Given the description of an element on the screen output the (x, y) to click on. 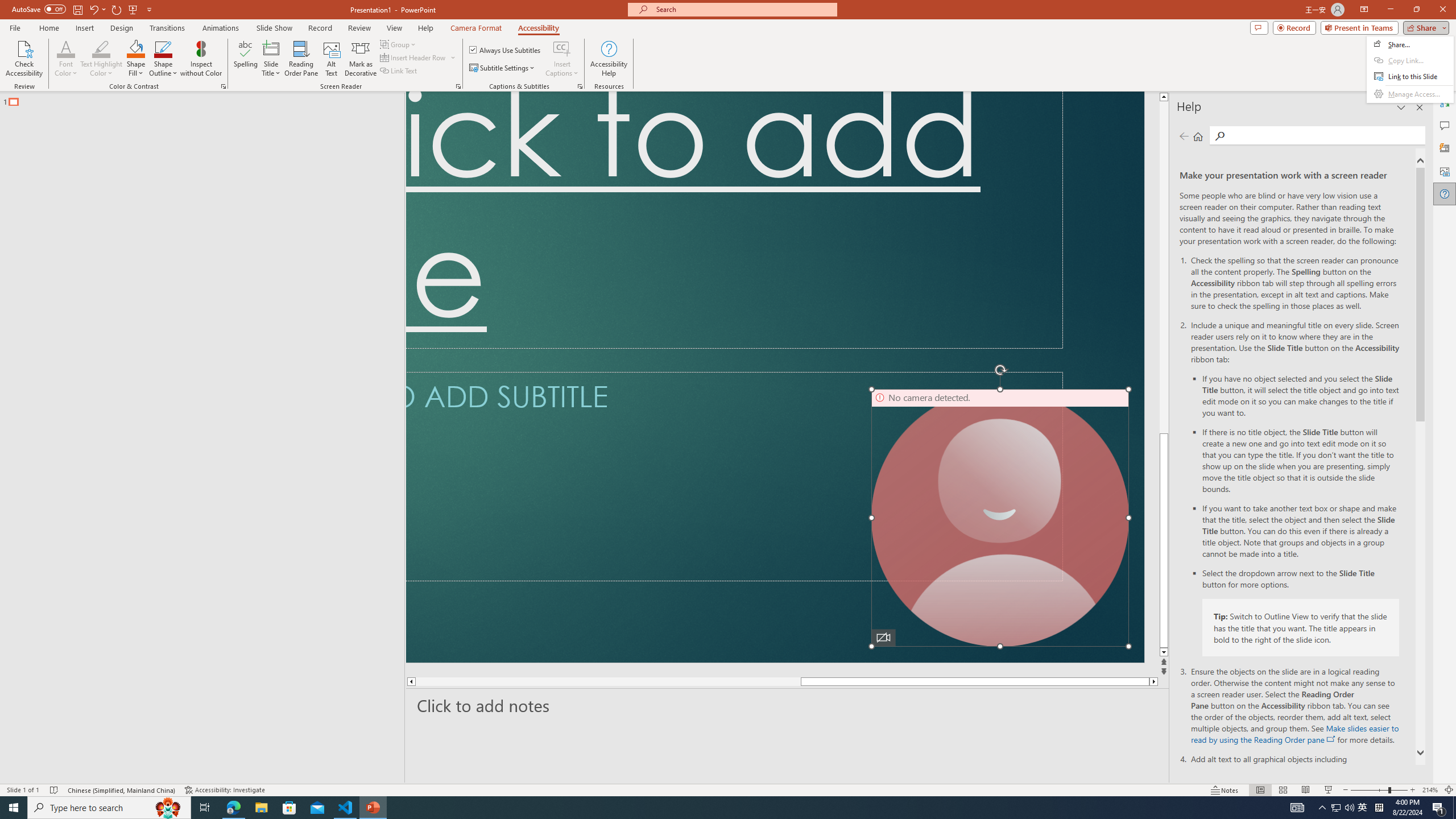
Captions & Subtitles (580, 85)
Camera Format (475, 28)
